Given the description of an element on the screen output the (x, y) to click on. 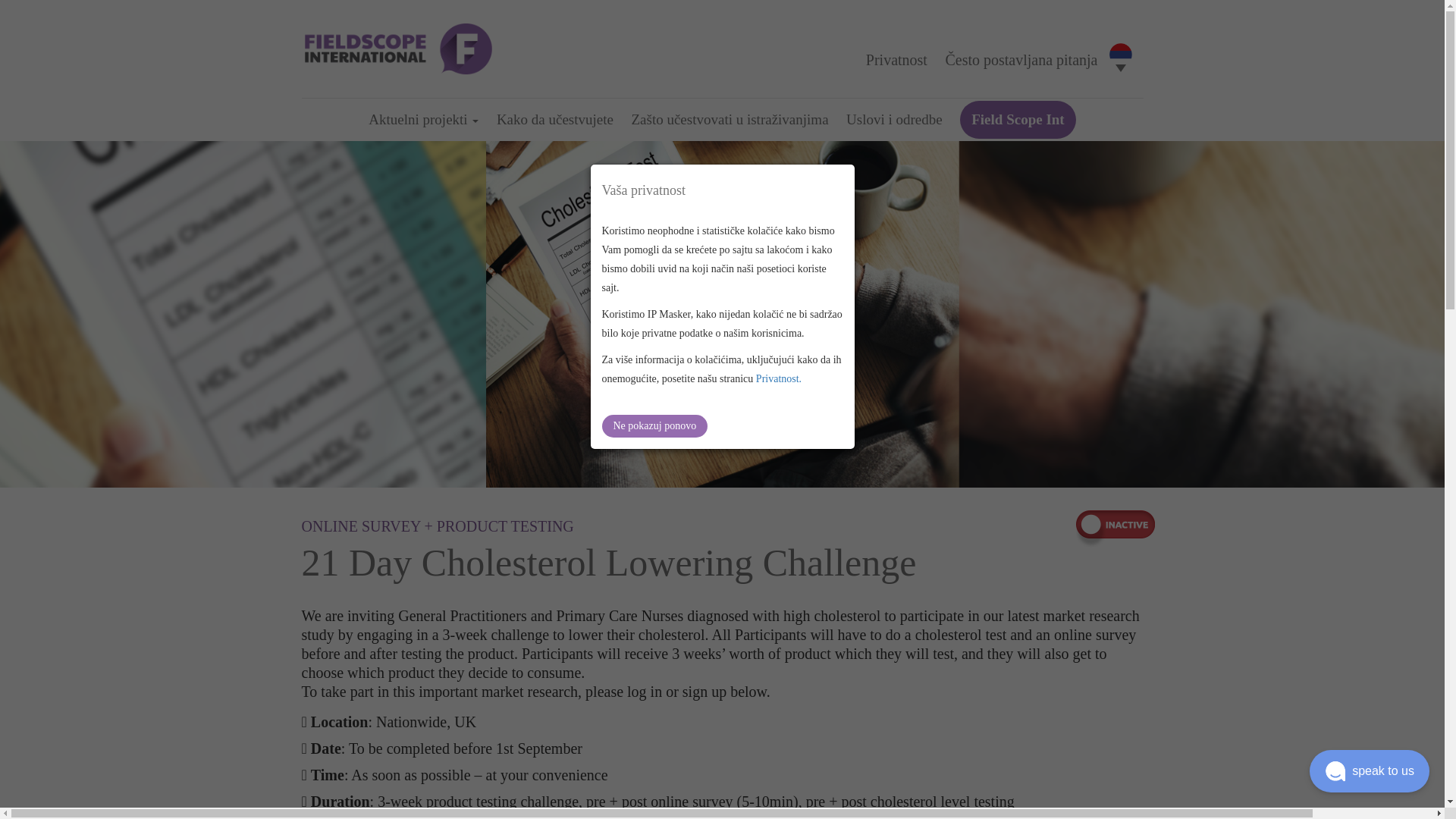
Uslovi i odredbe (893, 119)
Field Scope Int (1017, 119)
Privatnost (896, 59)
Aktuelni projekti (423, 119)
Ne pokazuj ponovo (654, 425)
Privatnost. (778, 378)
